Given the description of an element on the screen output the (x, y) to click on. 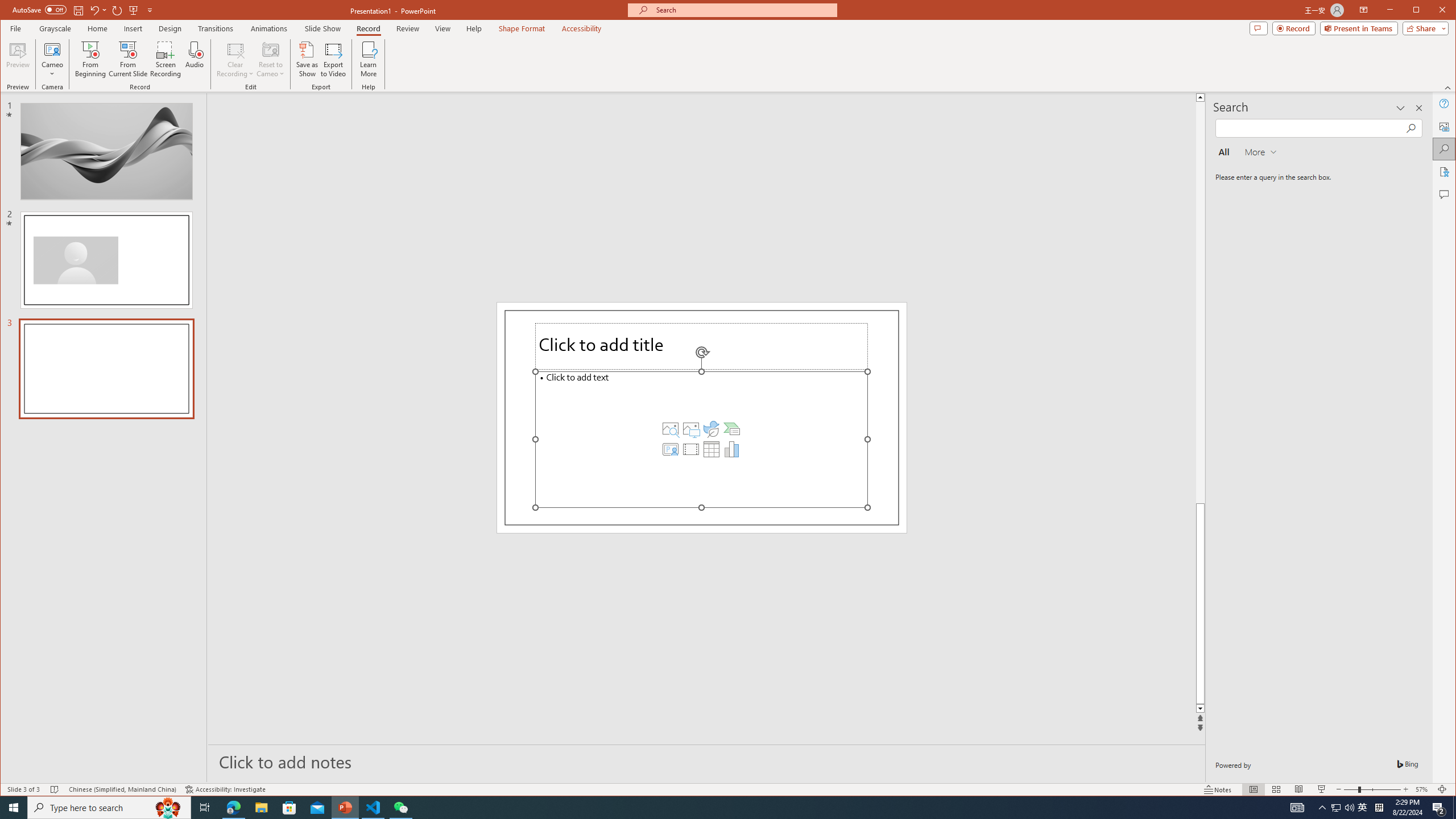
Insert Video (690, 449)
